Given the description of an element on the screen output the (x, y) to click on. 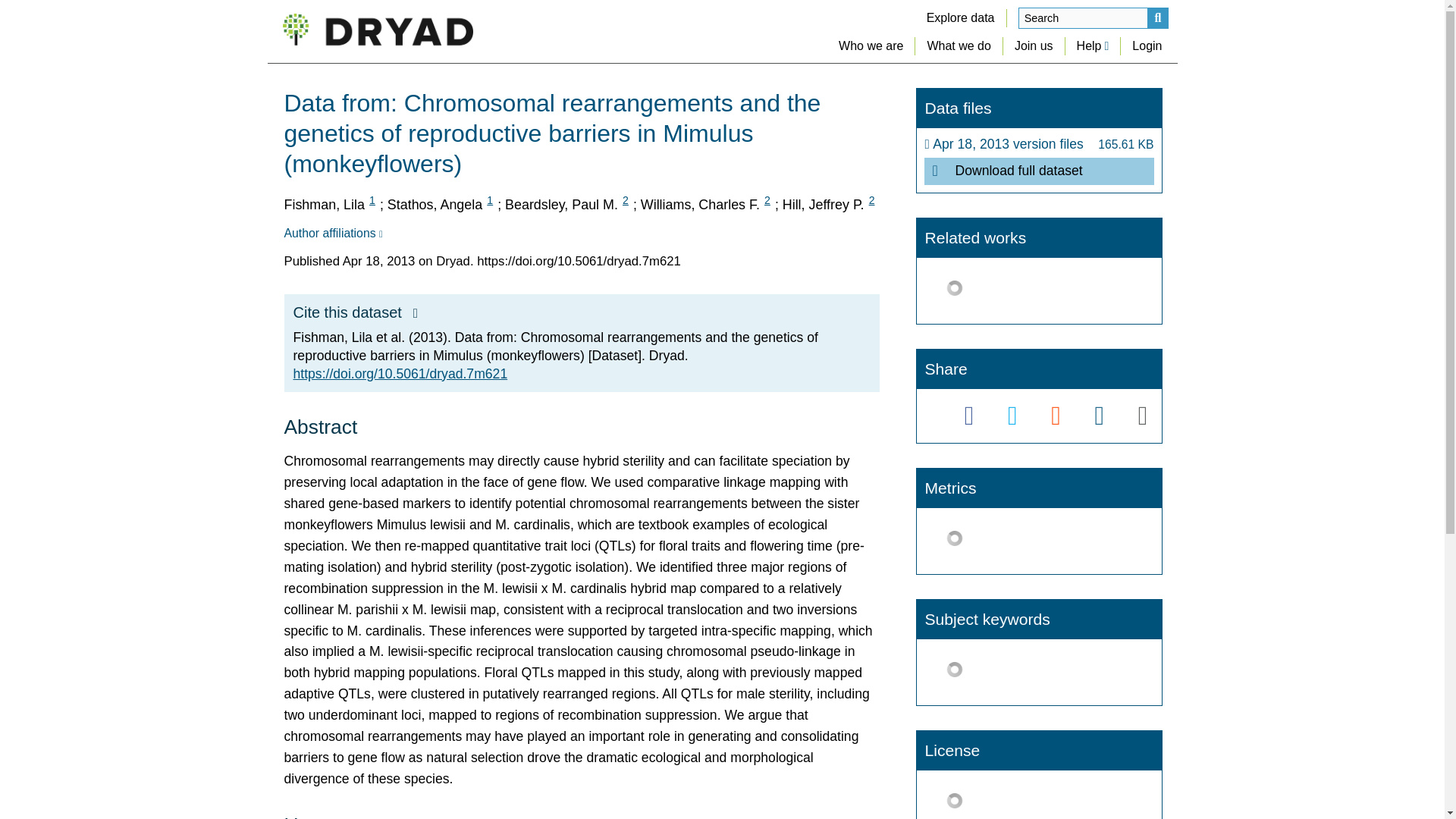
Copy citation (415, 313)
2 (767, 200)
1 (372, 200)
1 (489, 200)
2 (625, 200)
Author affiliations (332, 233)
Who we are (870, 45)
2 (871, 200)
